Given the description of an element on the screen output the (x, y) to click on. 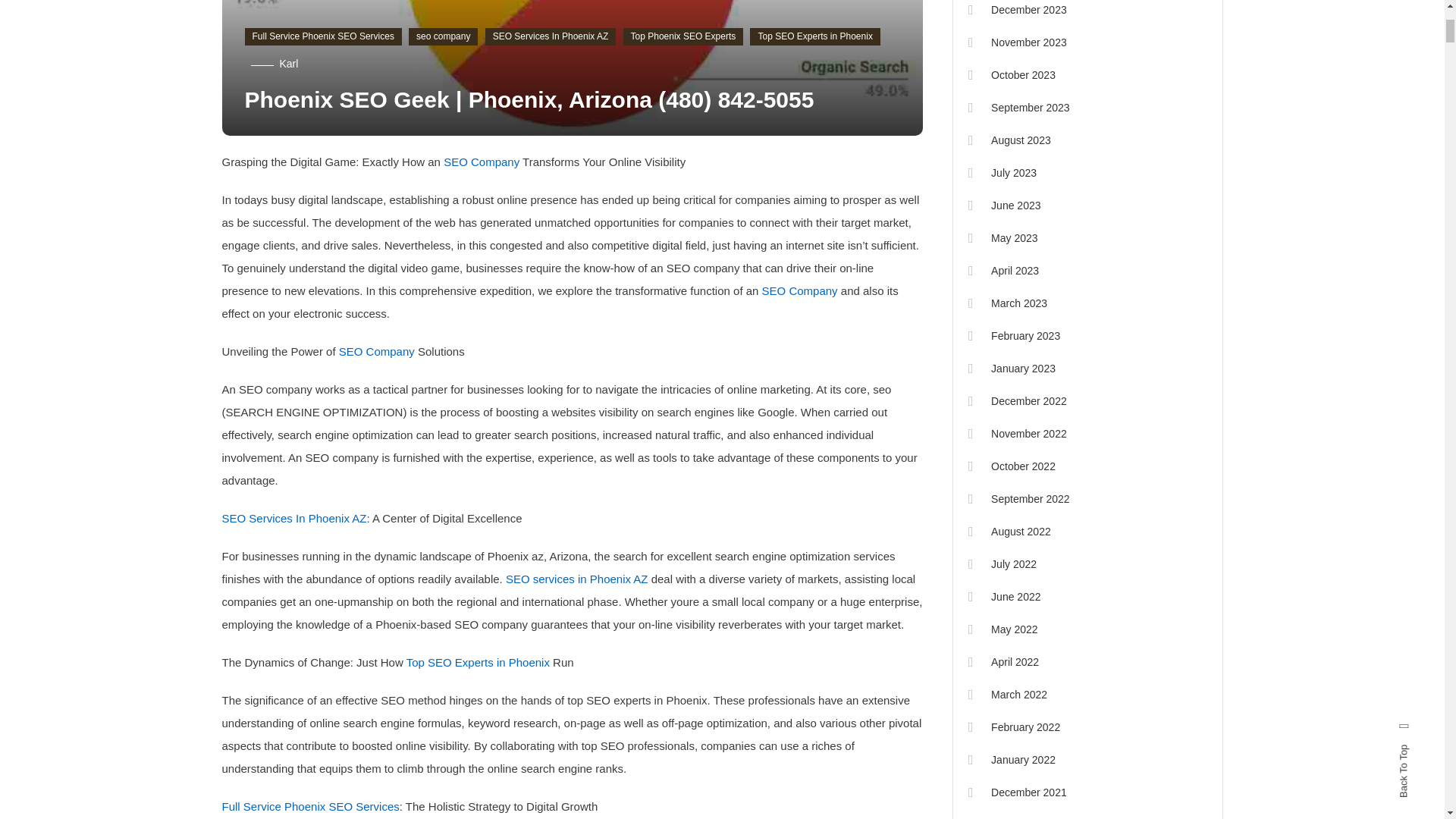
seo company (443, 36)
Full Service Phoenix SEO Services (322, 36)
SEO Services In Phoenix AZ (549, 36)
